Given the description of an element on the screen output the (x, y) to click on. 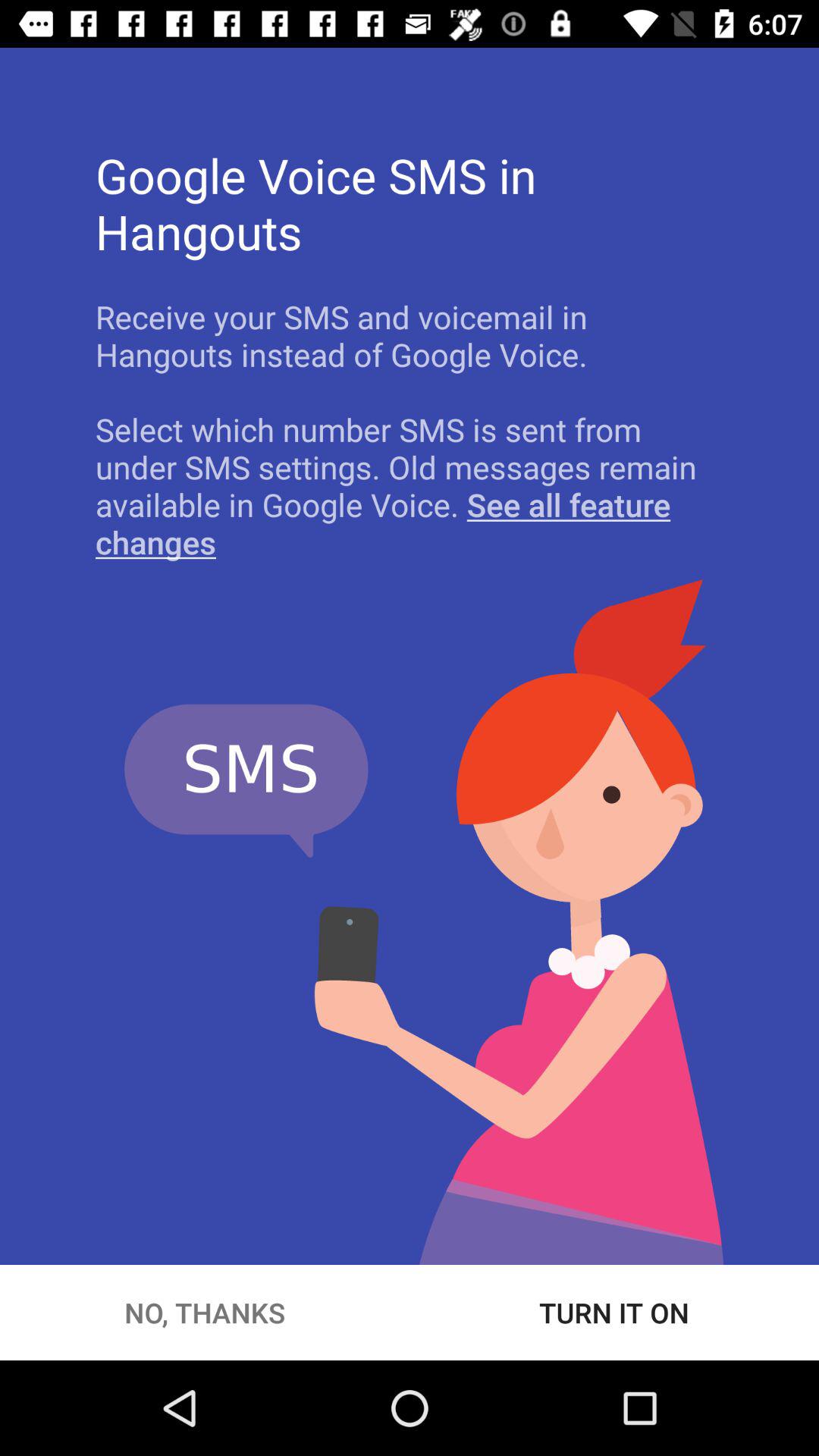
tap the no, thanks (204, 1312)
